Given the description of an element on the screen output the (x, y) to click on. 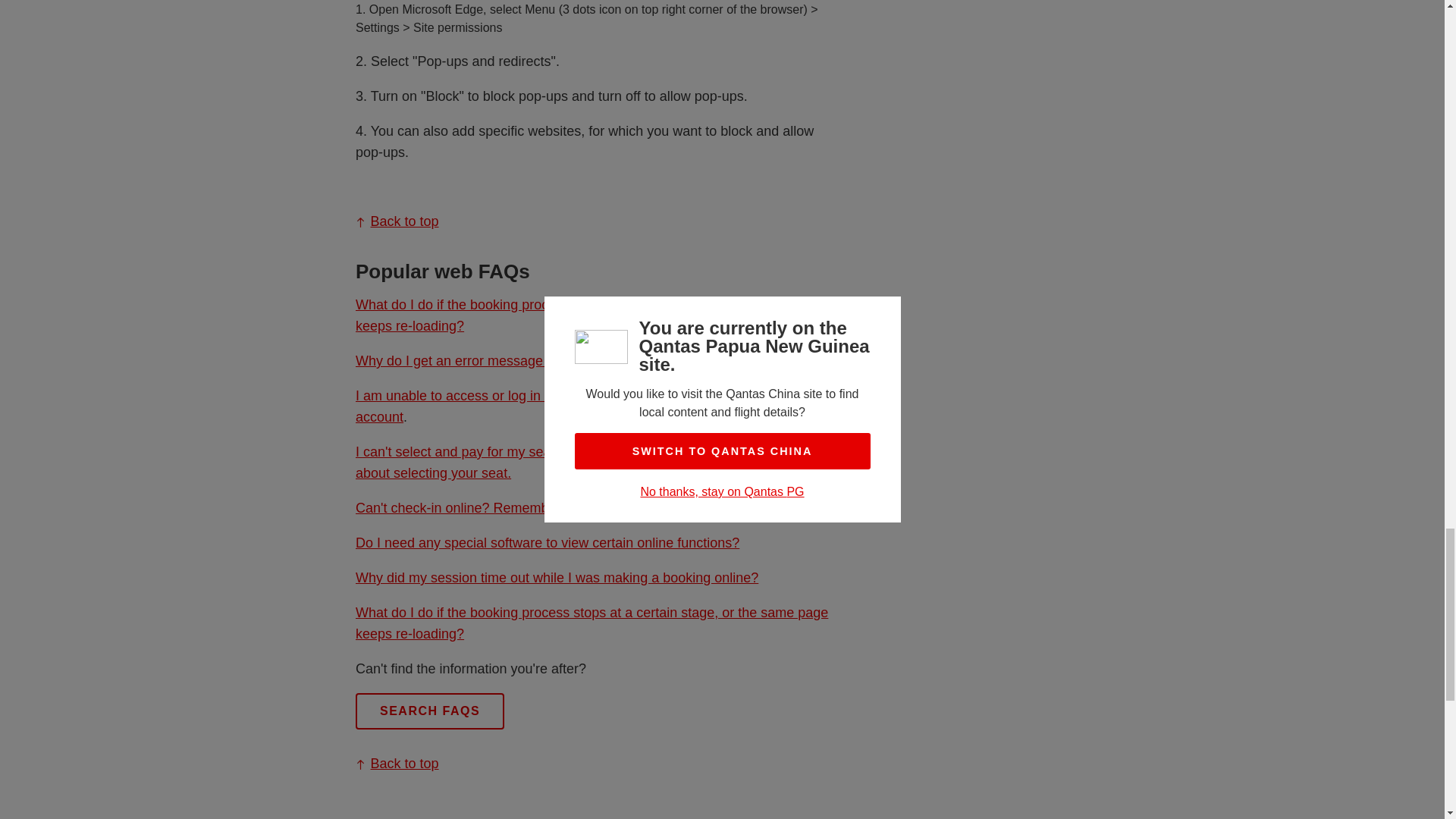
booking online help (591, 315)
software help (546, 542)
seat selection info (590, 462)
booking online help (591, 623)
airport check-in info (573, 507)
booking help (543, 360)
manage booking help (572, 406)
